Given the description of an element on the screen output the (x, y) to click on. 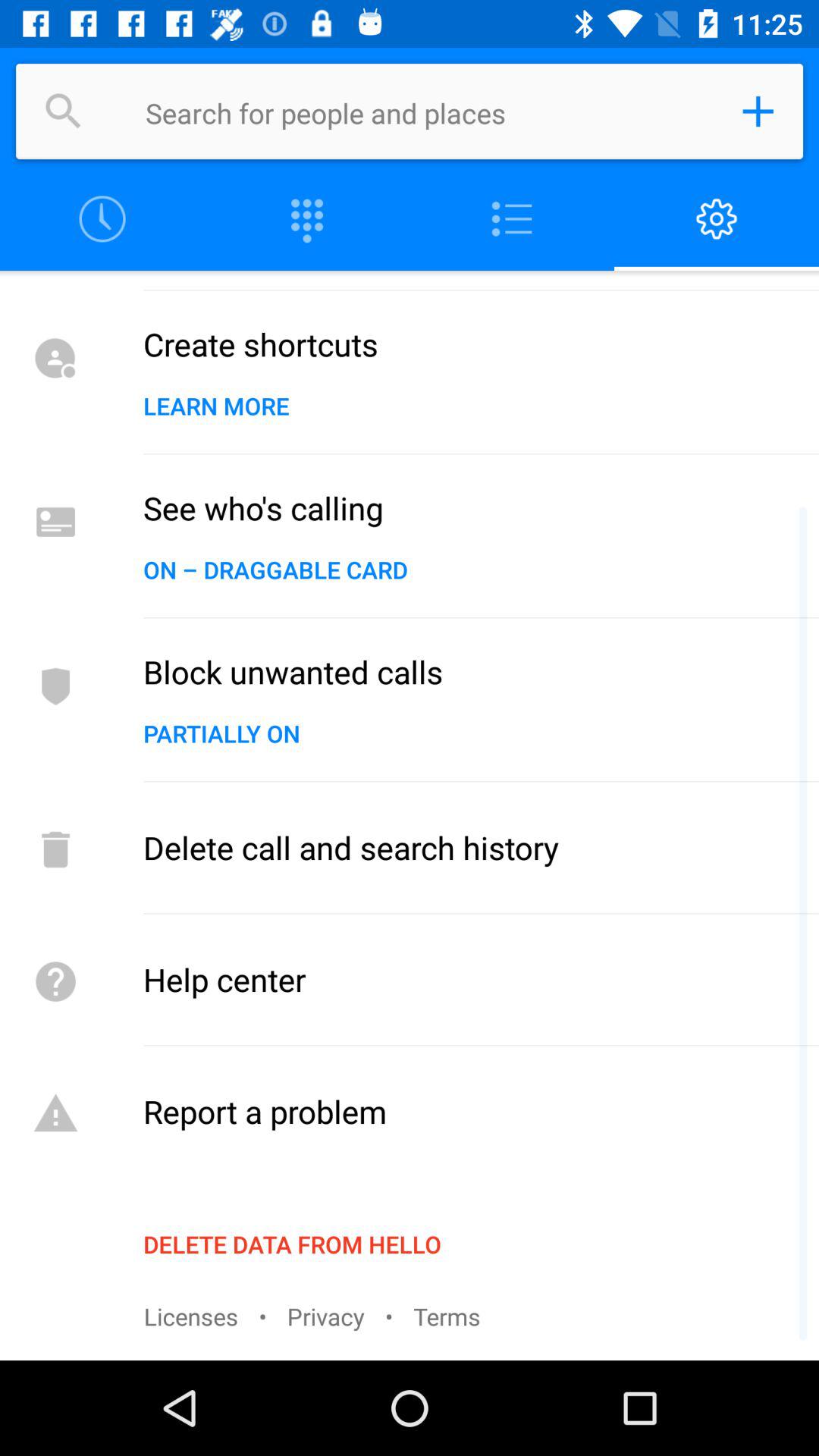
click to expand search function (757, 111)
